Given the description of an element on the screen output the (x, y) to click on. 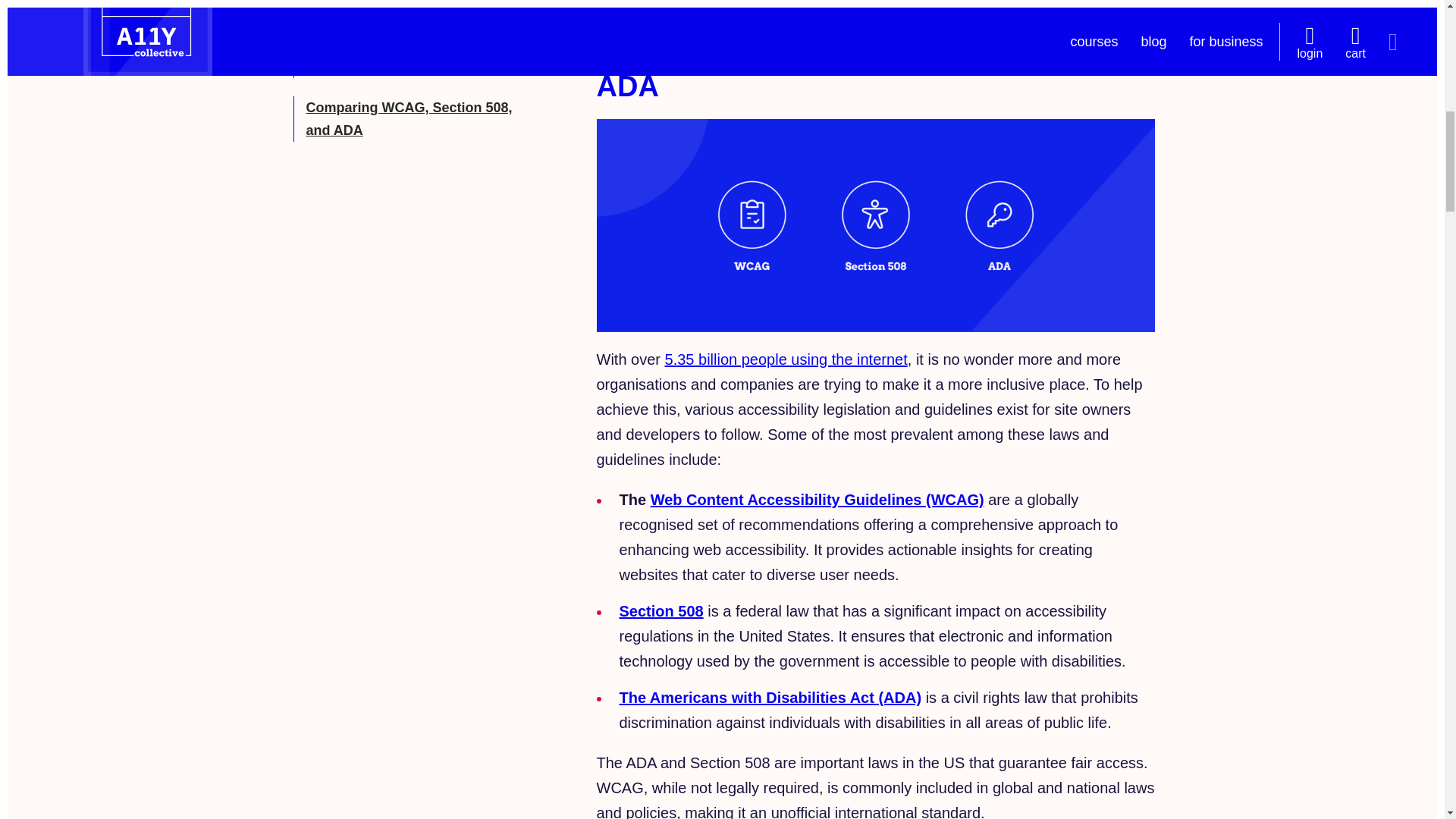
Comparing WCAG, Section 508, and ADA (408, 118)
5.35 billion people using the internet (786, 359)
Section 508 explained (376, 25)
Section 508 (660, 610)
Breaking down the ADA (383, 66)
